Given the description of an element on the screen output the (x, y) to click on. 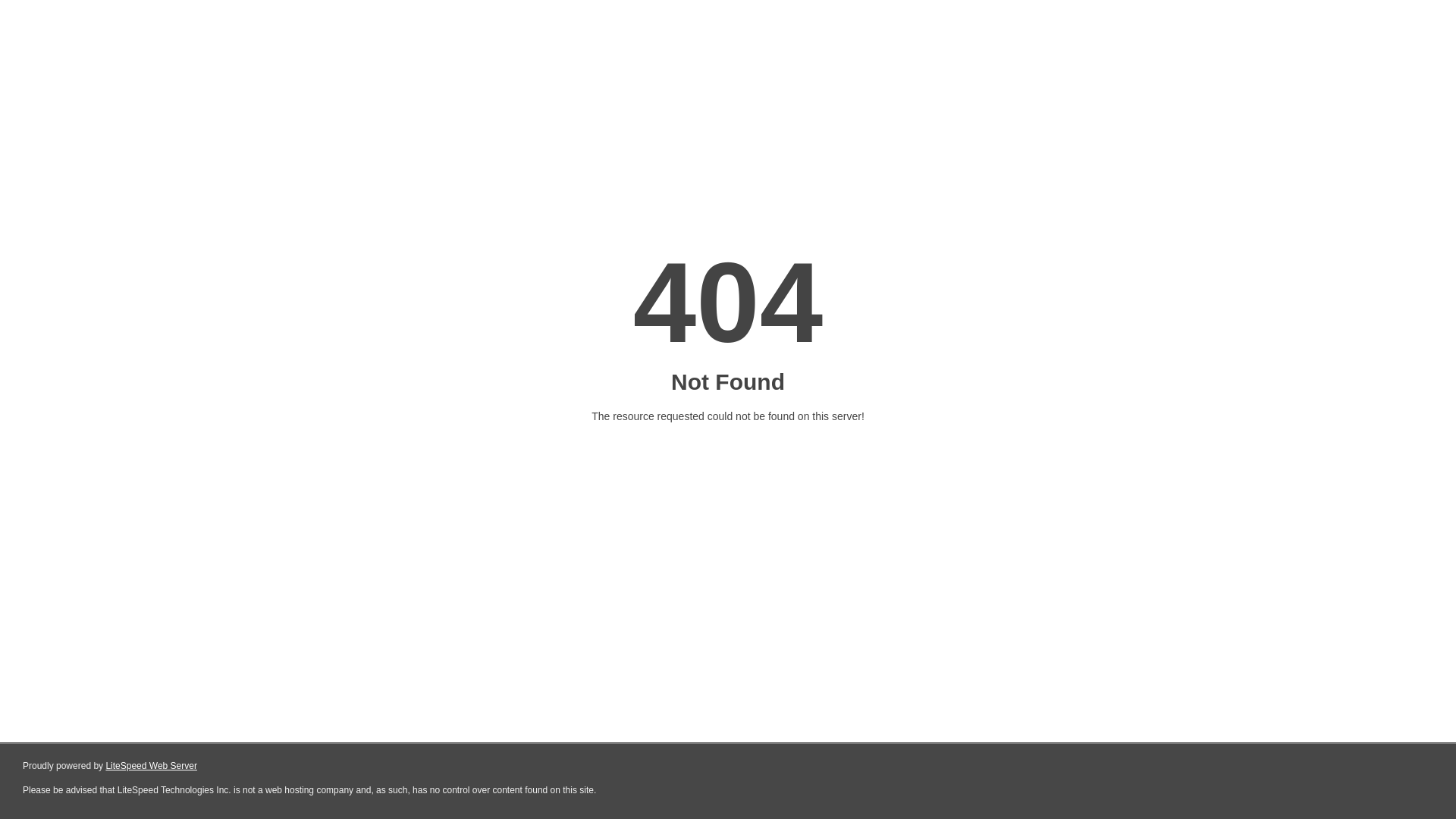
LiteSpeed Web Server Element type: text (151, 765)
